Given the description of an element on the screen output the (x, y) to click on. 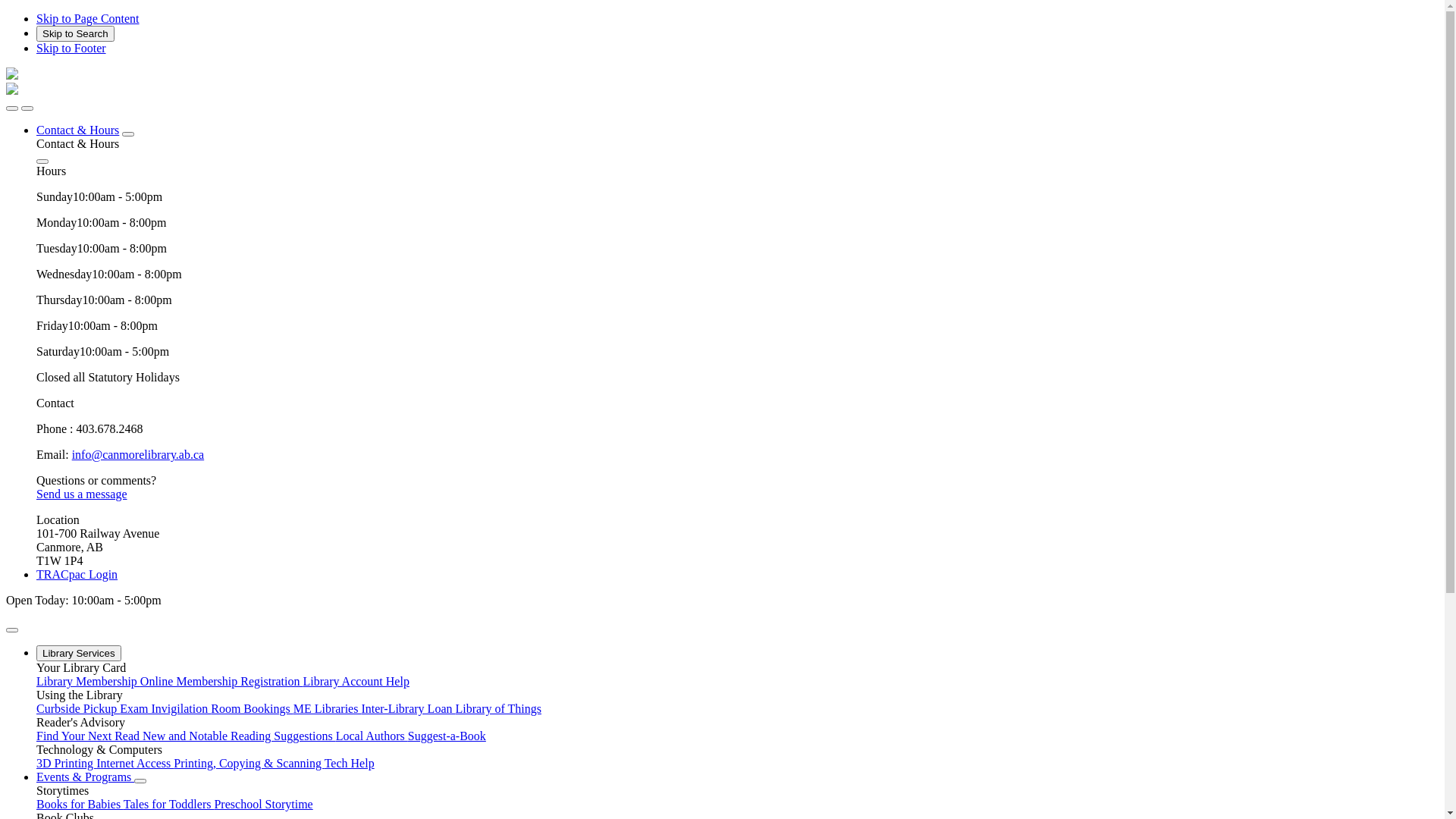
Online Membership Registration Element type: text (221, 680)
Inter-Library Loan Element type: text (407, 708)
Curbside Pickup Element type: text (77, 708)
3D Printing Element type: text (66, 762)
Library of Things Element type: text (497, 708)
Exam Invigilation Element type: text (164, 708)
Books for Babies Element type: text (79, 803)
Reading Suggestions Element type: text (282, 735)
ME Libraries Element type: text (327, 708)
info@canmorelibrary.ab.ca Element type: text (138, 454)
Library Membership Element type: text (88, 680)
Printing, Copying & Scanning Element type: text (248, 762)
Events & Programs Element type: text (85, 776)
Send us a message Element type: text (81, 493)
Local Authors Element type: text (371, 735)
Skip to Page Content Element type: text (87, 18)
Library Services Element type: text (78, 653)
Internet Access Element type: text (134, 762)
Skip to Search Element type: text (75, 33)
Library Account Help Element type: text (356, 680)
Preschool Storytime Element type: text (262, 803)
Tales for Toddlers Element type: text (168, 803)
TRACpac Login Element type: text (76, 573)
Room Bookings Element type: text (251, 708)
Canmore Public Library Element type: hover (12, 90)
Contact & Hours Element type: text (77, 129)
Skip to Footer Element type: text (71, 47)
New and Notable Element type: text (186, 735)
Tech Help Element type: text (349, 762)
Suggest-a-Book Element type: text (446, 735)
Find Your Next Read Element type: text (89, 735)
